Given the description of an element on the screen output the (x, y) to click on. 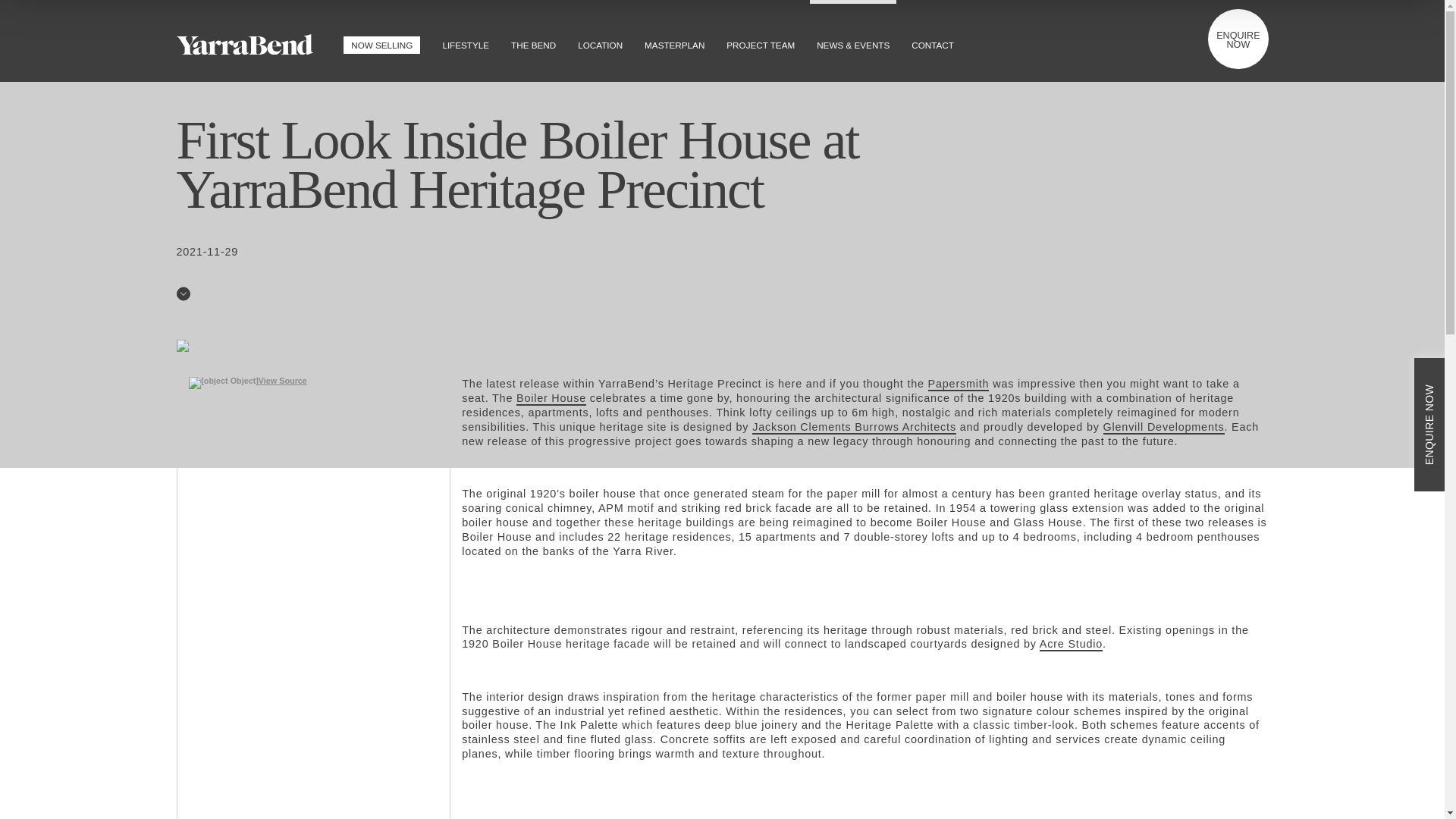
ENQUIRE NOW (1238, 38)
NOW SELLING (381, 40)
Glenvill Developments (1163, 427)
Acre Studio (1070, 644)
YarraBend (244, 45)
PROJECT TEAM (760, 40)
Boiler House (551, 398)
Papersmith (959, 384)
View Source (283, 379)
MASTERPLAN (674, 40)
